Given the description of an element on the screen output the (x, y) to click on. 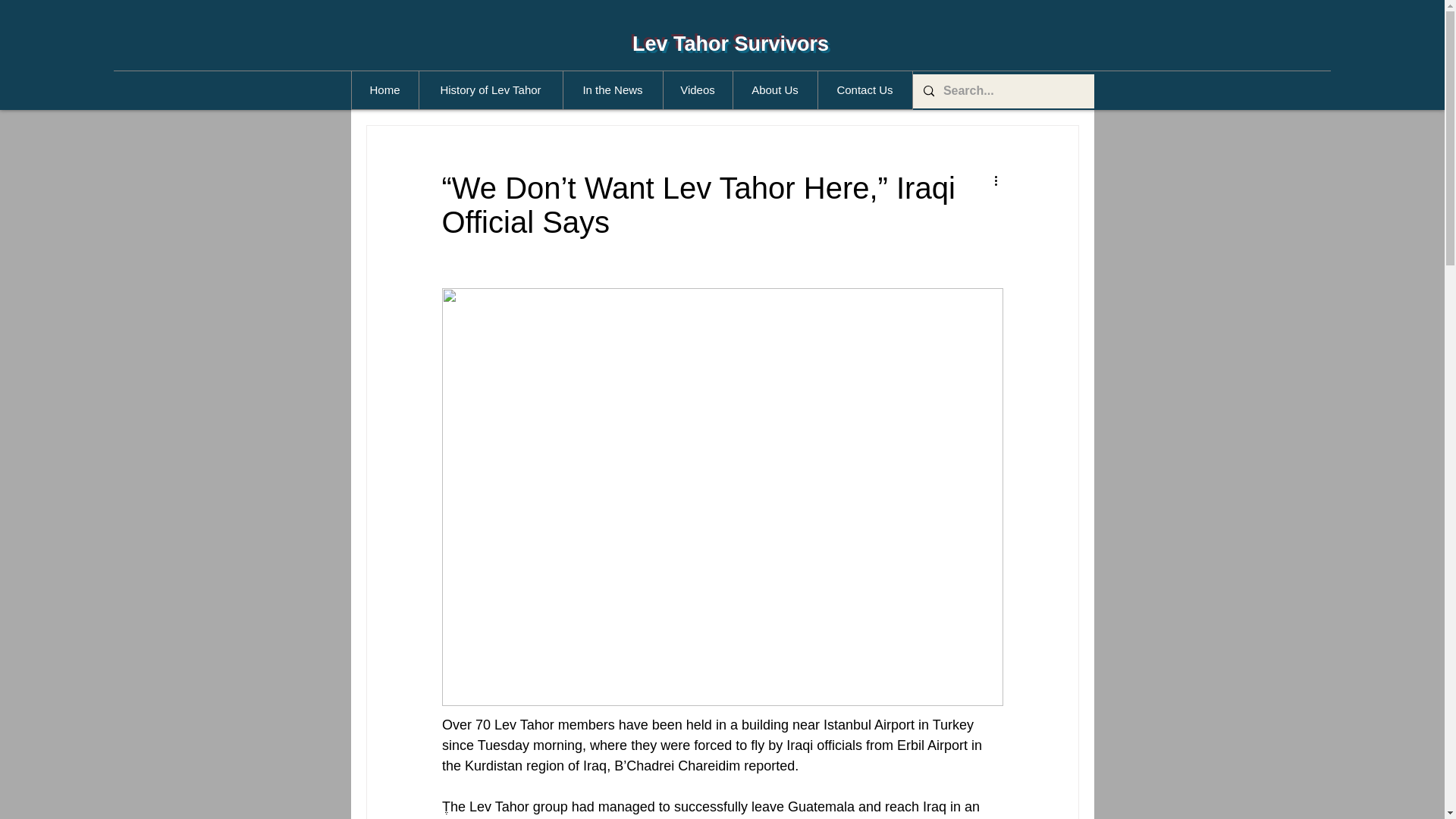
Home (385, 89)
Videos (697, 89)
In the News (612, 89)
History of Lev Tahor (490, 89)
Lev Tahor Survivors (729, 43)
Contact Us (864, 89)
About Us (774, 89)
